Given the description of an element on the screen output the (x, y) to click on. 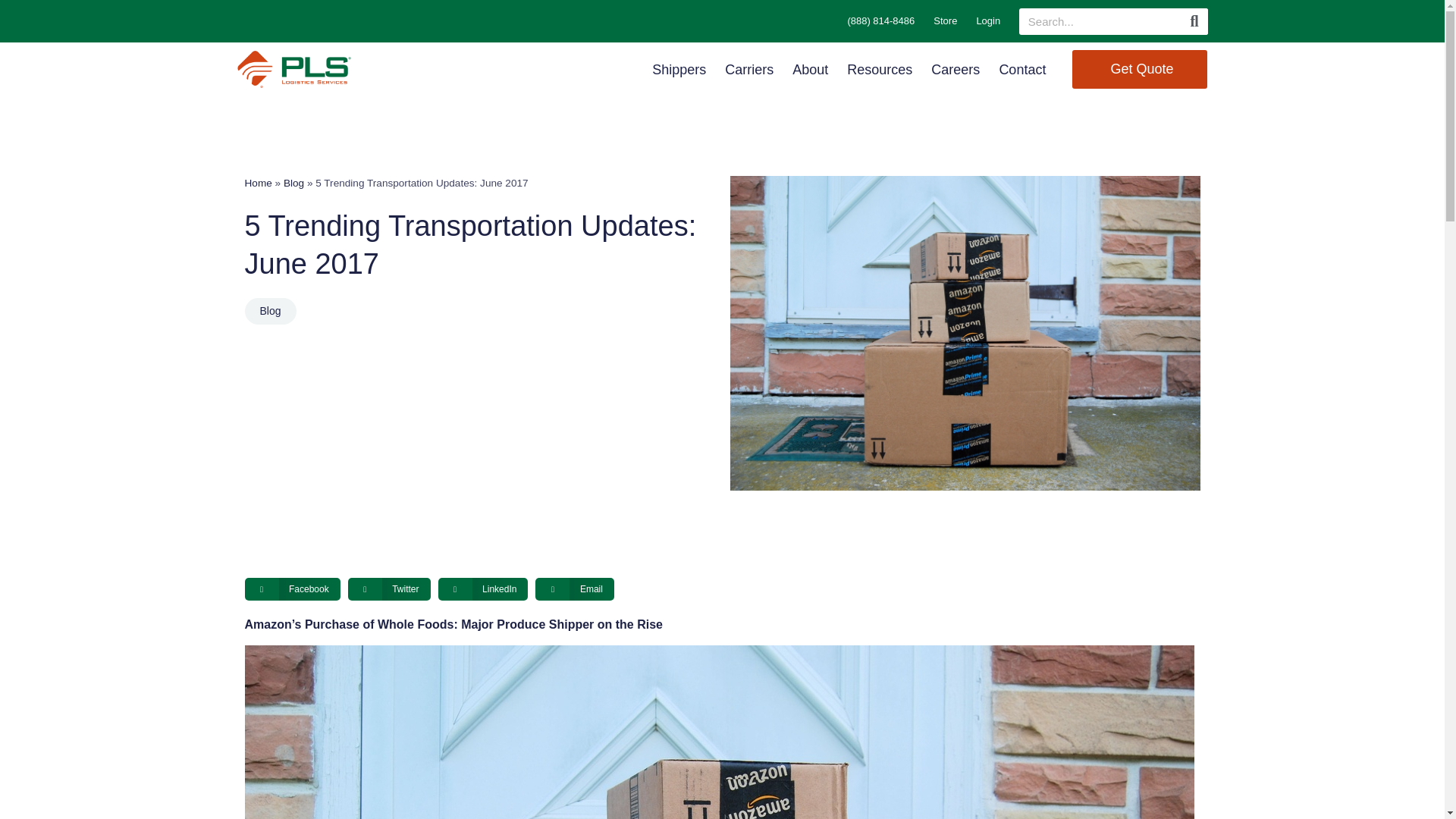
Resources (879, 68)
About (810, 68)
Contact (1021, 68)
Shippers (679, 68)
Careers (955, 68)
Carriers (749, 68)
